Given the description of an element on the screen output the (x, y) to click on. 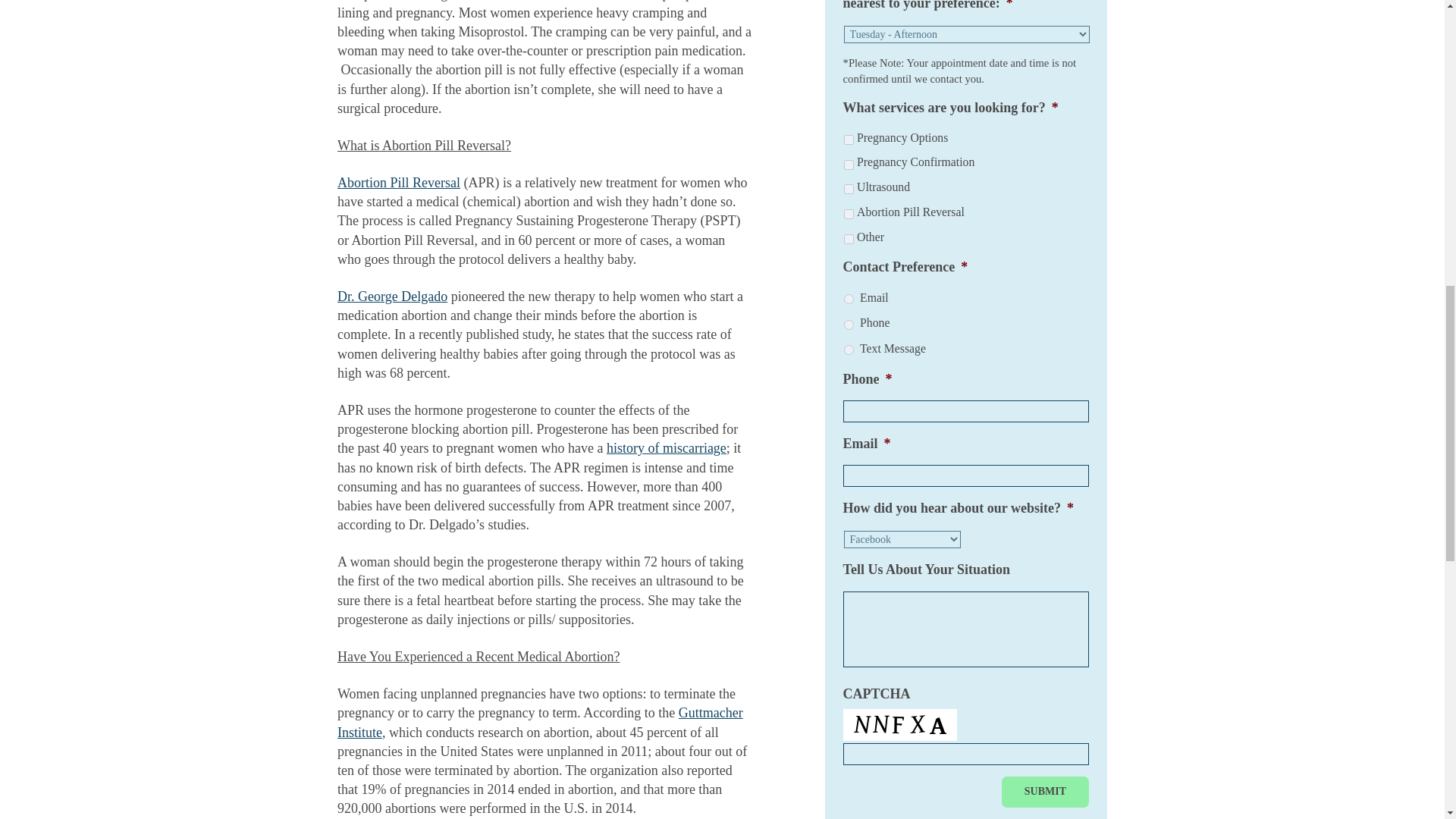
Abortion Pill Reversal (848, 214)
Pregnancy Options (848, 139)
Email (848, 298)
Other (848, 239)
Submit (1045, 791)
Submit (1045, 791)
Guttmacher Institute (539, 722)
Ultrasound (848, 189)
history of miscarriage (666, 447)
Text Message (848, 349)
